Given the description of an element on the screen output the (x, y) to click on. 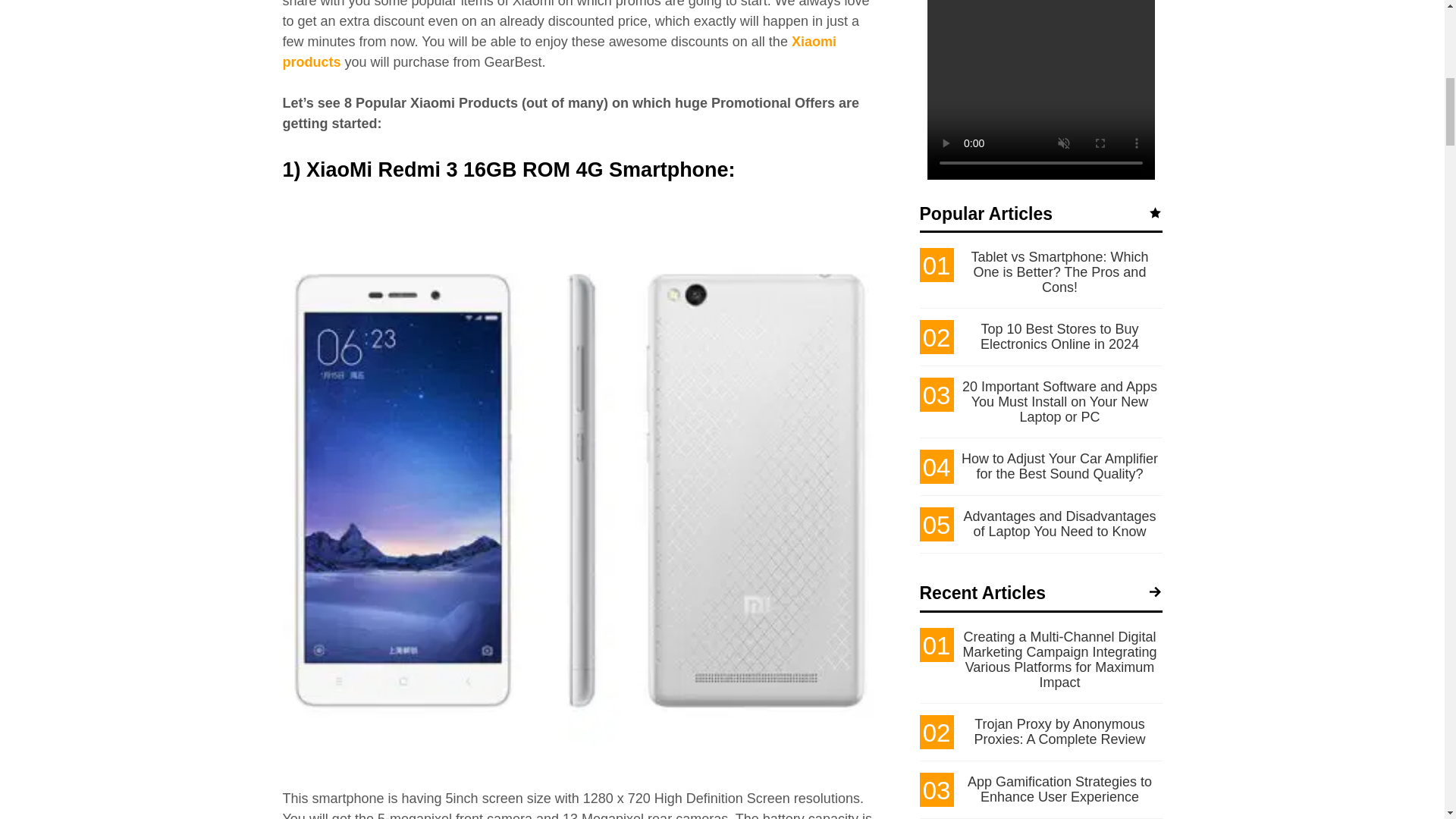
Xiaomi products (558, 51)
